Given the description of an element on the screen output the (x, y) to click on. 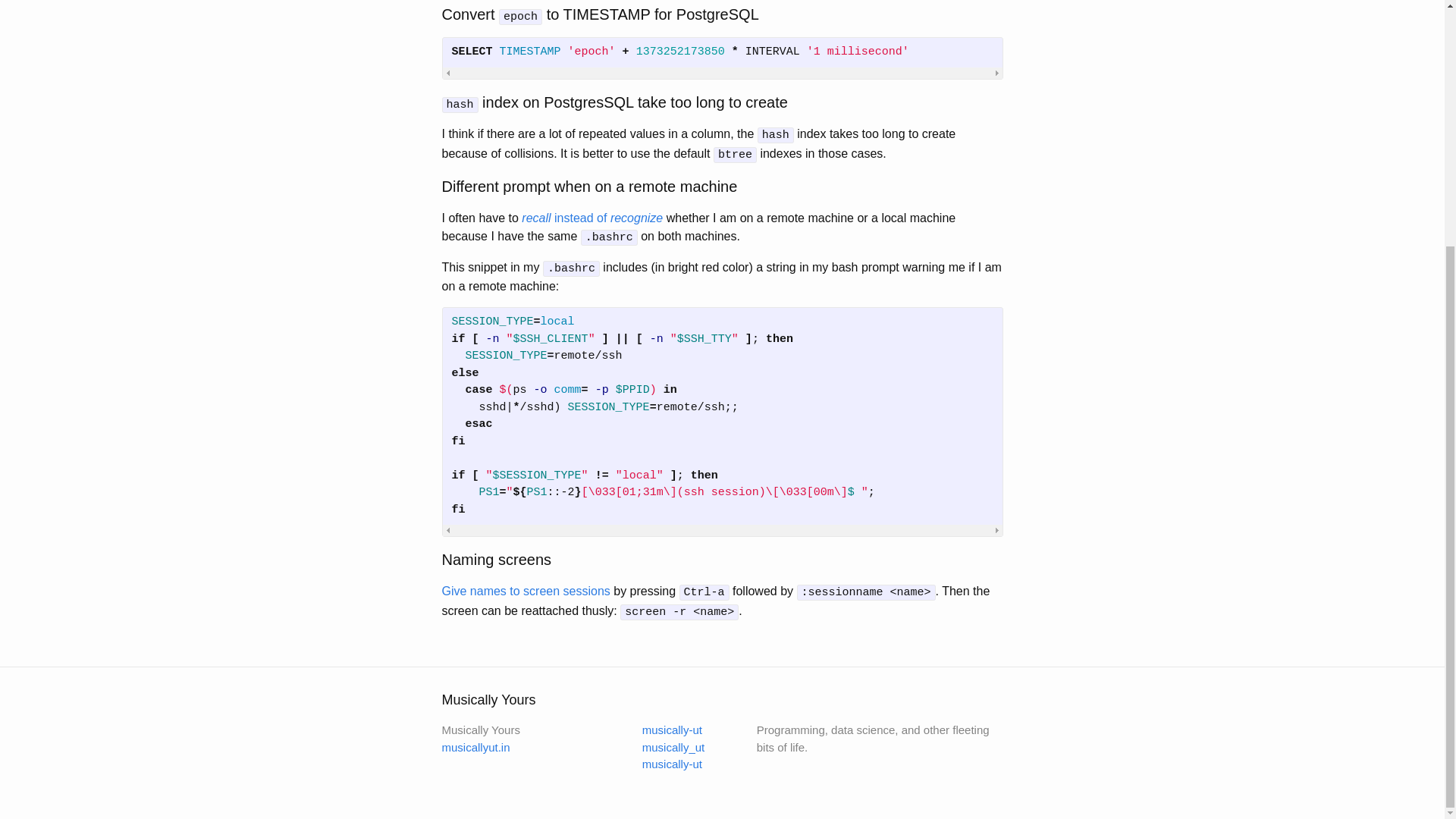
musically-ut (671, 729)
musically-ut (671, 763)
Give names to screen sessions (525, 590)
recall instead of recognize (591, 217)
musicallyut.in (475, 747)
